Given the description of an element on the screen output the (x, y) to click on. 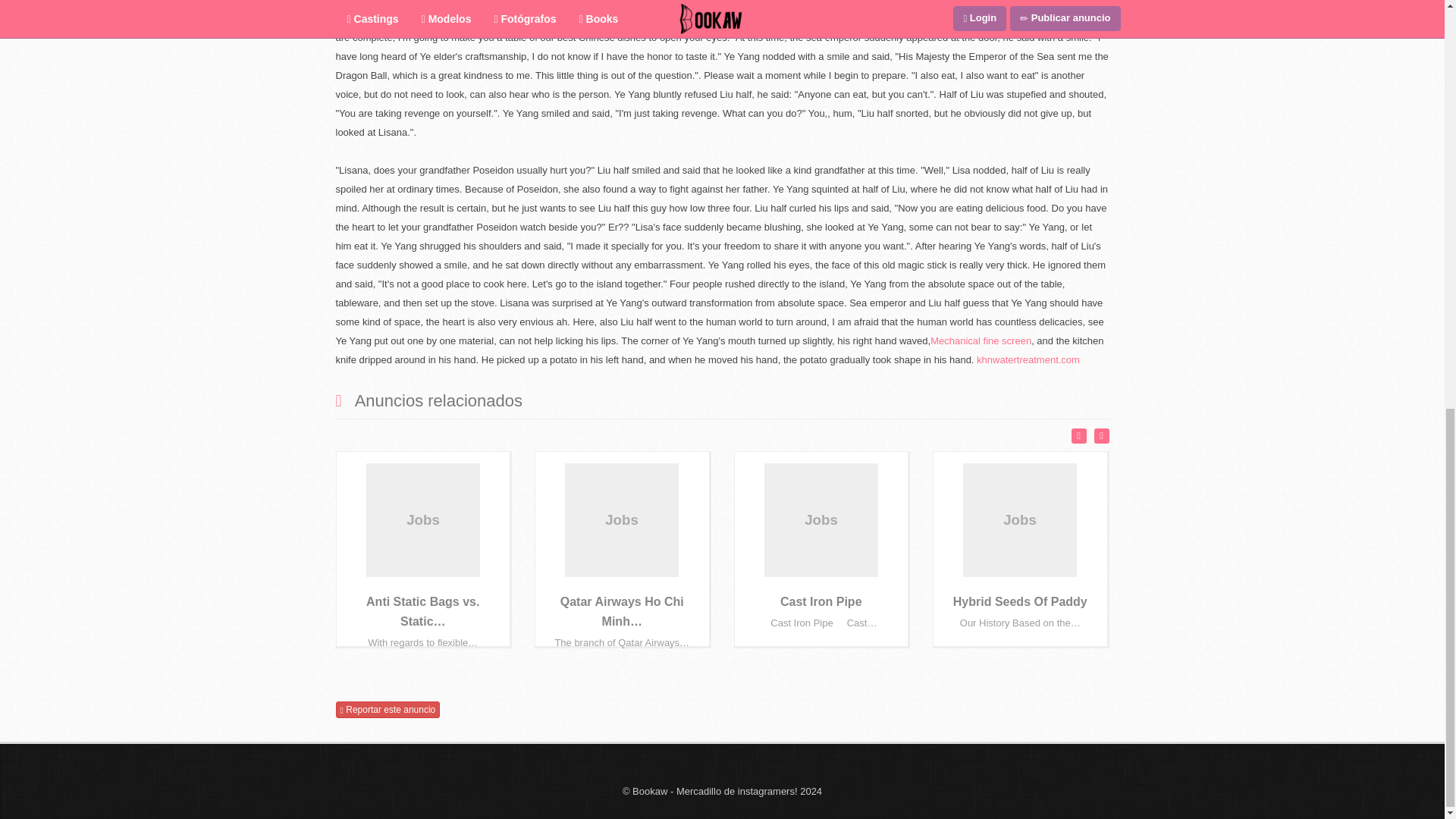
Lamella Plate Settler (778, 2)
khnwatertreatment.com (1028, 359)
Mechanical fine screen (980, 340)
Belt Filter Press (693, 2)
